Given the description of an element on the screen output the (x, y) to click on. 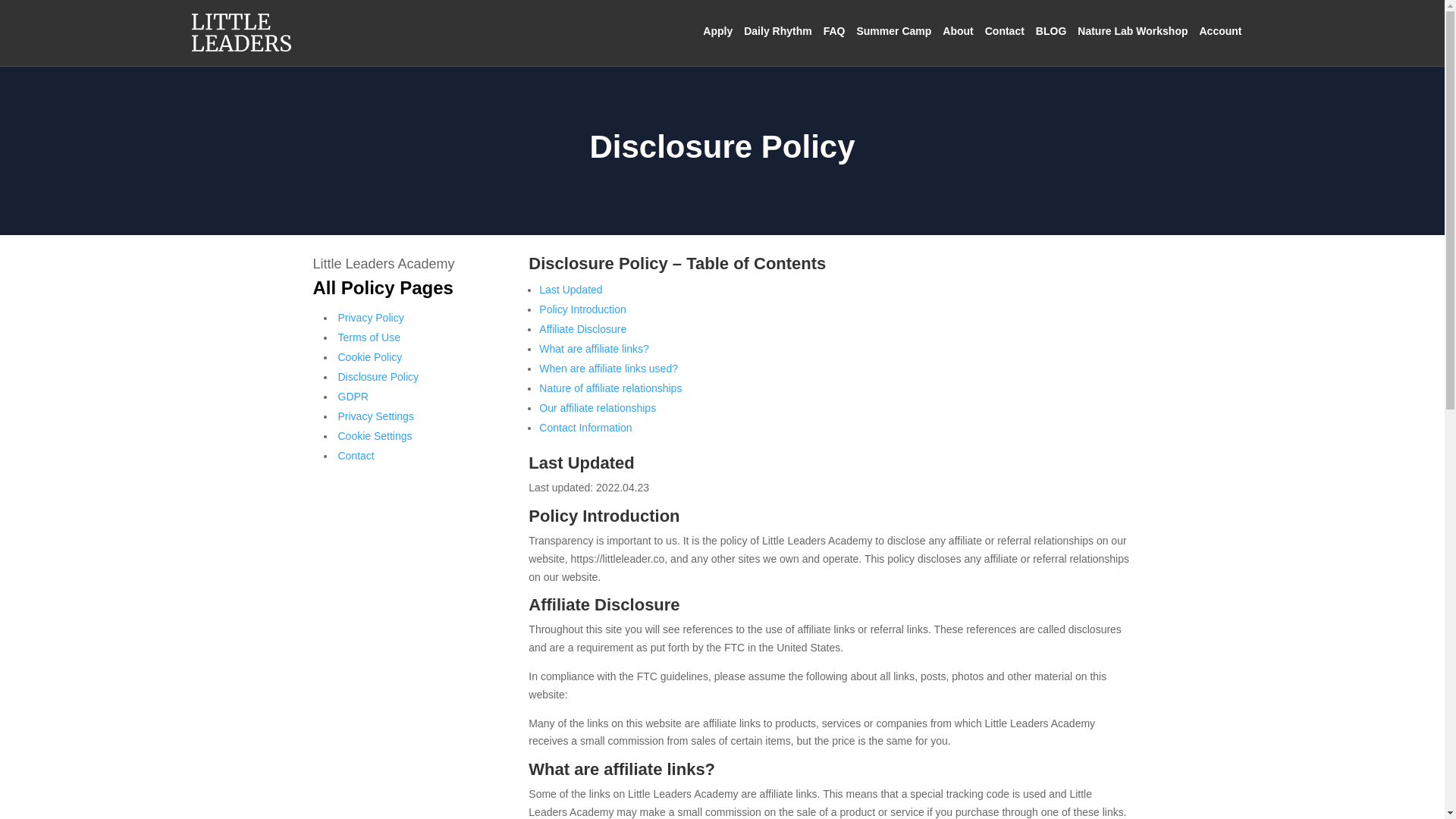
Privacy Policy (370, 317)
Disclosure Policy (378, 377)
Affiliate Disclosure (582, 328)
What are affiliate links? (592, 348)
Little-Leaders-Logo (240, 32)
Privacy Settings (375, 416)
Policy Introduction (582, 309)
Terms of Use (368, 337)
Our affiliate relationships (597, 408)
When are affiliate links used? (608, 368)
Cookie Settings (374, 435)
Last Updated (570, 289)
Cookie Policy (370, 357)
Contact Information (584, 427)
Nature of affiliate relationships (609, 387)
